Given the description of an element on the screen output the (x, y) to click on. 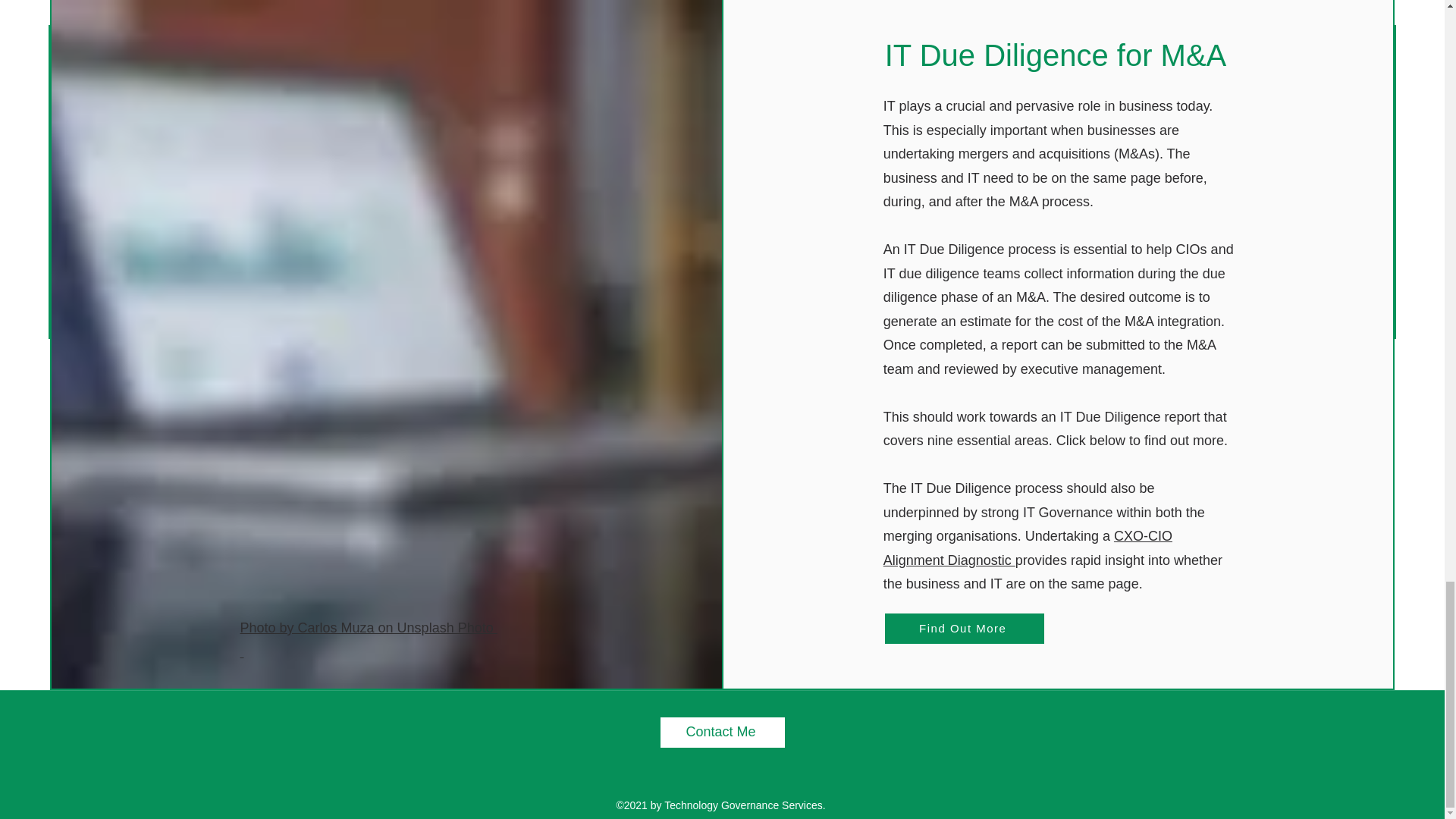
CXO-CIO Alignment Diagnostic  (1027, 548)
Find Out More (964, 628)
Contact Me (721, 732)
Learn More (368, 639)
